Given the description of an element on the screen output the (x, y) to click on. 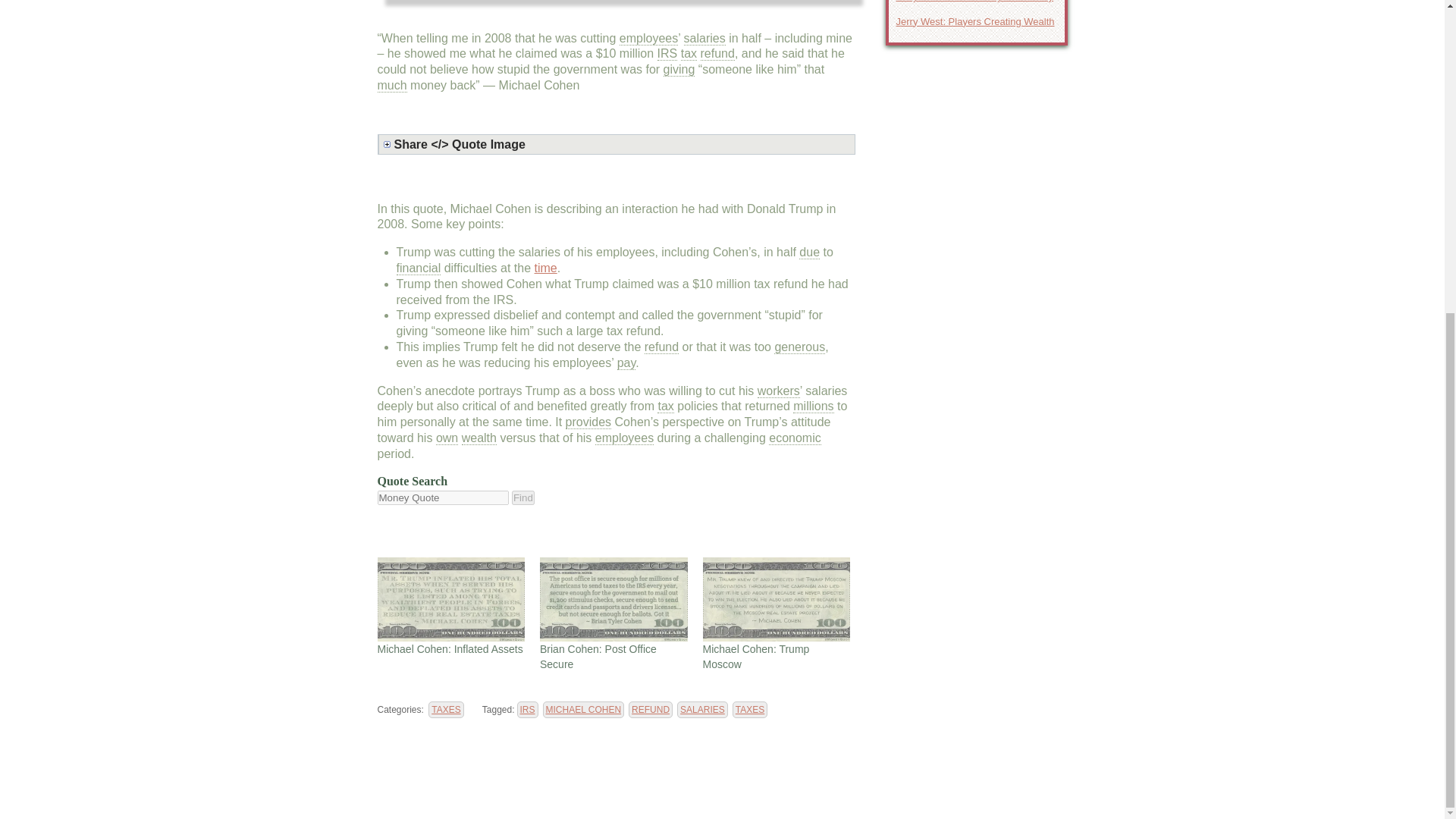
Michael Cohen: Trump Moscow (775, 598)
tax (689, 53)
refund (661, 346)
Find (523, 497)
giving (679, 69)
due (809, 252)
Michael Cohen: Inflated Assets (451, 598)
economic (794, 438)
time (545, 267)
much (392, 85)
Brian Cohen: Post Office Secure (613, 598)
Michael Cohen: Trump Moscow (755, 656)
Expand (619, 144)
Time is Money (545, 267)
refund (717, 53)
